Given the description of an element on the screen output the (x, y) to click on. 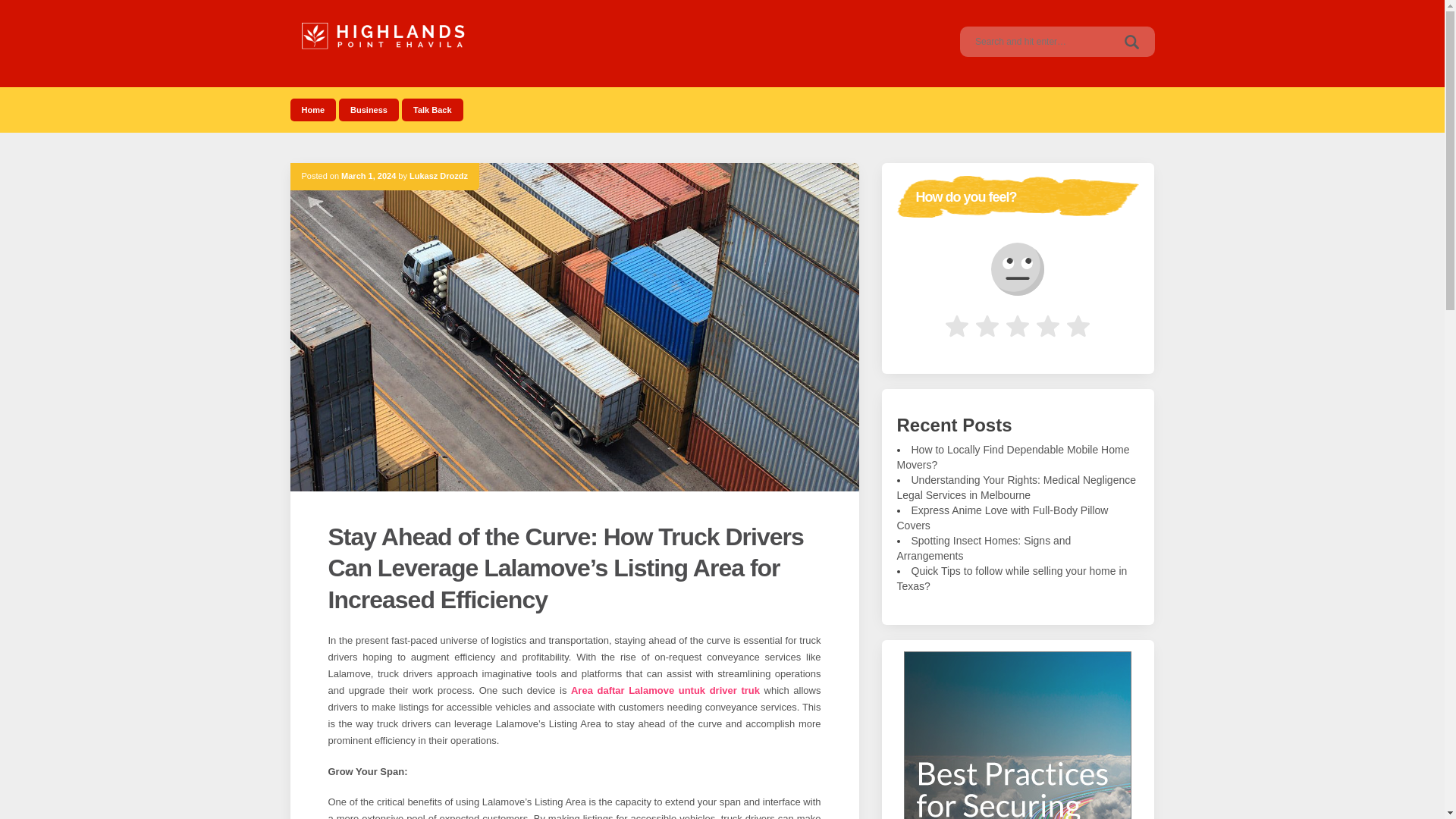
How to Locally Find Dependable Mobile Home Movers? (1012, 456)
Talk Back (432, 109)
Lukasz Drozdz (438, 175)
Search (1131, 41)
Spotting Insect Homes: Signs and Arrangements (983, 547)
Search (1131, 41)
Search (1131, 41)
Express Anime Love with Full-Body Pillow Covers (1002, 517)
March 1, 2024 (368, 175)
Home (312, 109)
Home (312, 109)
Business (368, 109)
Area daftar Lalamove untuk driver truk (665, 690)
Quick Tips to follow while selling your home in Texas? (1011, 578)
